Given the description of an element on the screen output the (x, y) to click on. 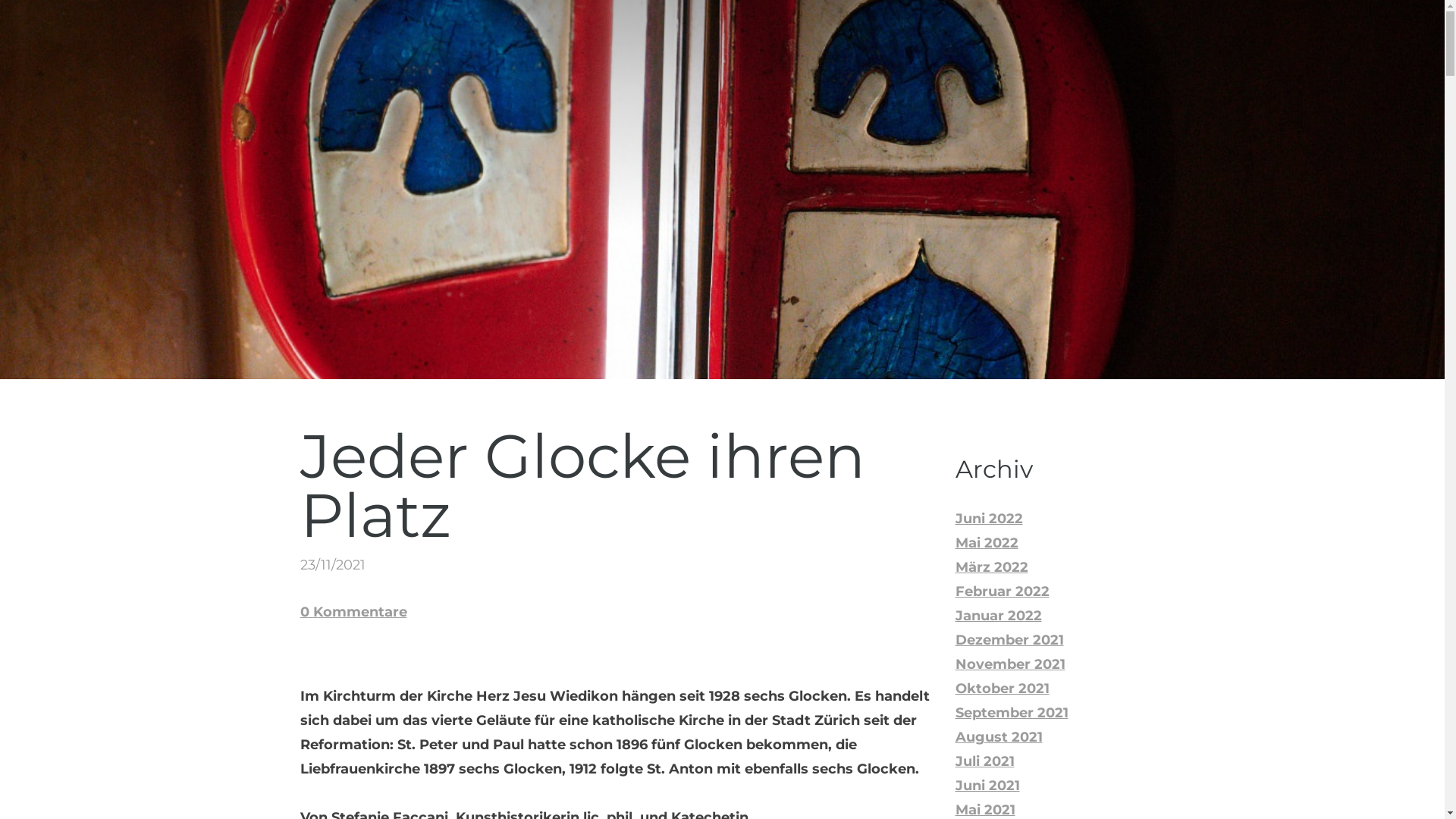
Januar 2022 Element type: text (998, 615)
Juni 2022 Element type: text (988, 518)
Jeder Glocke ihren Platz Element type: text (582, 485)
Juni 2021 Element type: text (987, 785)
0 Kommentare Element type: text (353, 611)
Februar 2022 Element type: text (1002, 591)
Mai 2021 Element type: text (985, 809)
Dezember 2021 Element type: text (1009, 639)
September 2021 Element type: text (1011, 712)
November 2021 Element type: text (1010, 663)
Juli 2021 Element type: text (984, 761)
Oktober 2021 Element type: text (1002, 688)
August 2021 Element type: text (998, 736)
Mai 2022 Element type: text (986, 542)
